Given the description of an element on the screen output the (x, y) to click on. 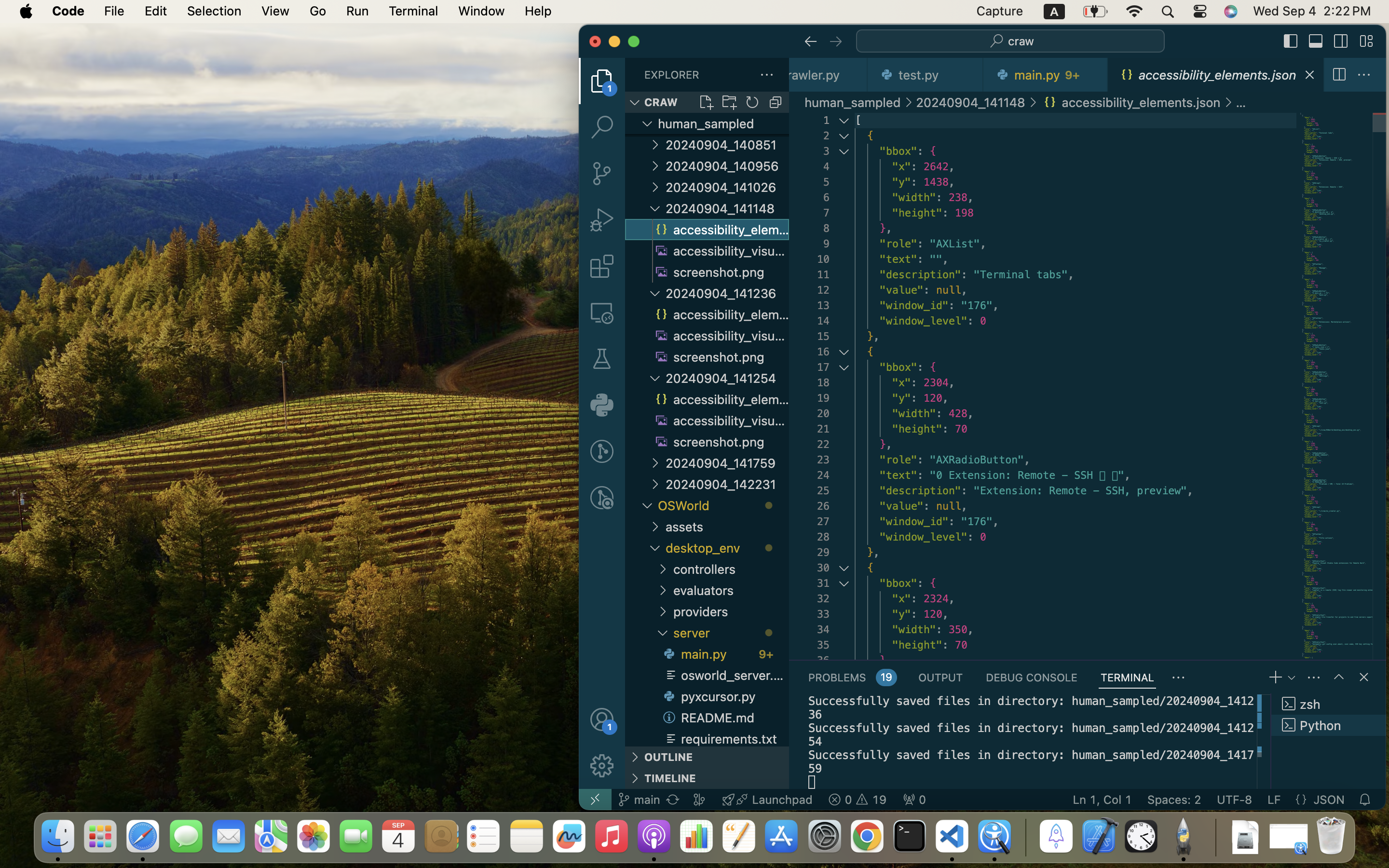
0 main.py   9+ Element type: AXRadioButton (1045, 74)
craw Element type: AXStaticText (1020, 41)
20240904_140956 Element type: AXGroup (727, 165)
EXPLORER Element type: AXStaticText (671, 74)
 Element type: AXGroup (1178, 677)
